Given the description of an element on the screen output the (x, y) to click on. 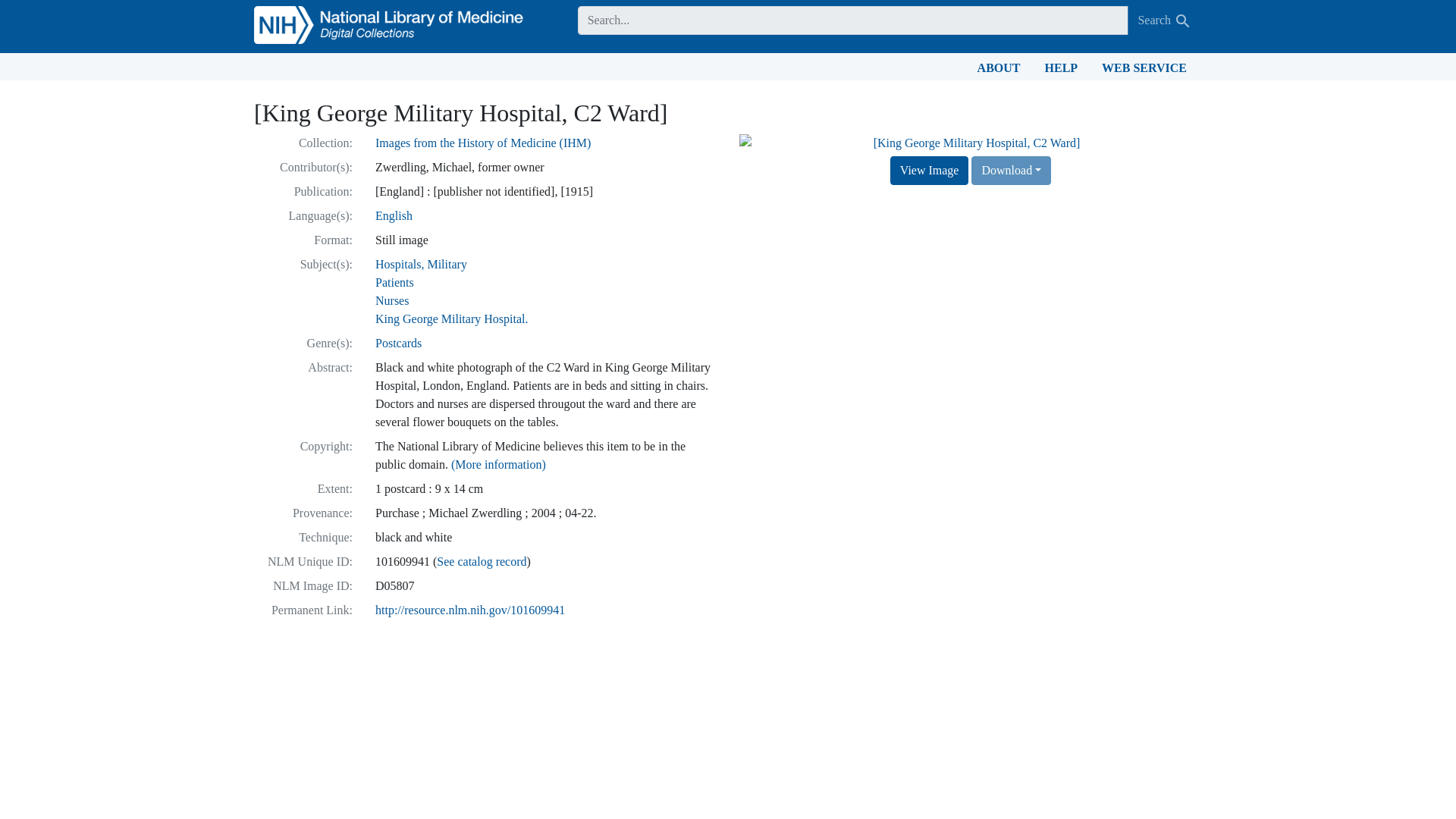
View Image (929, 170)
English (393, 215)
HELP (1061, 66)
Nurses (392, 300)
King George Military Hospital. (451, 318)
WEB SERVICE (1143, 66)
Hospitals, Military (421, 264)
Patients (394, 282)
Search (1182, 21)
ABOUT (998, 66)
